Given the description of an element on the screen output the (x, y) to click on. 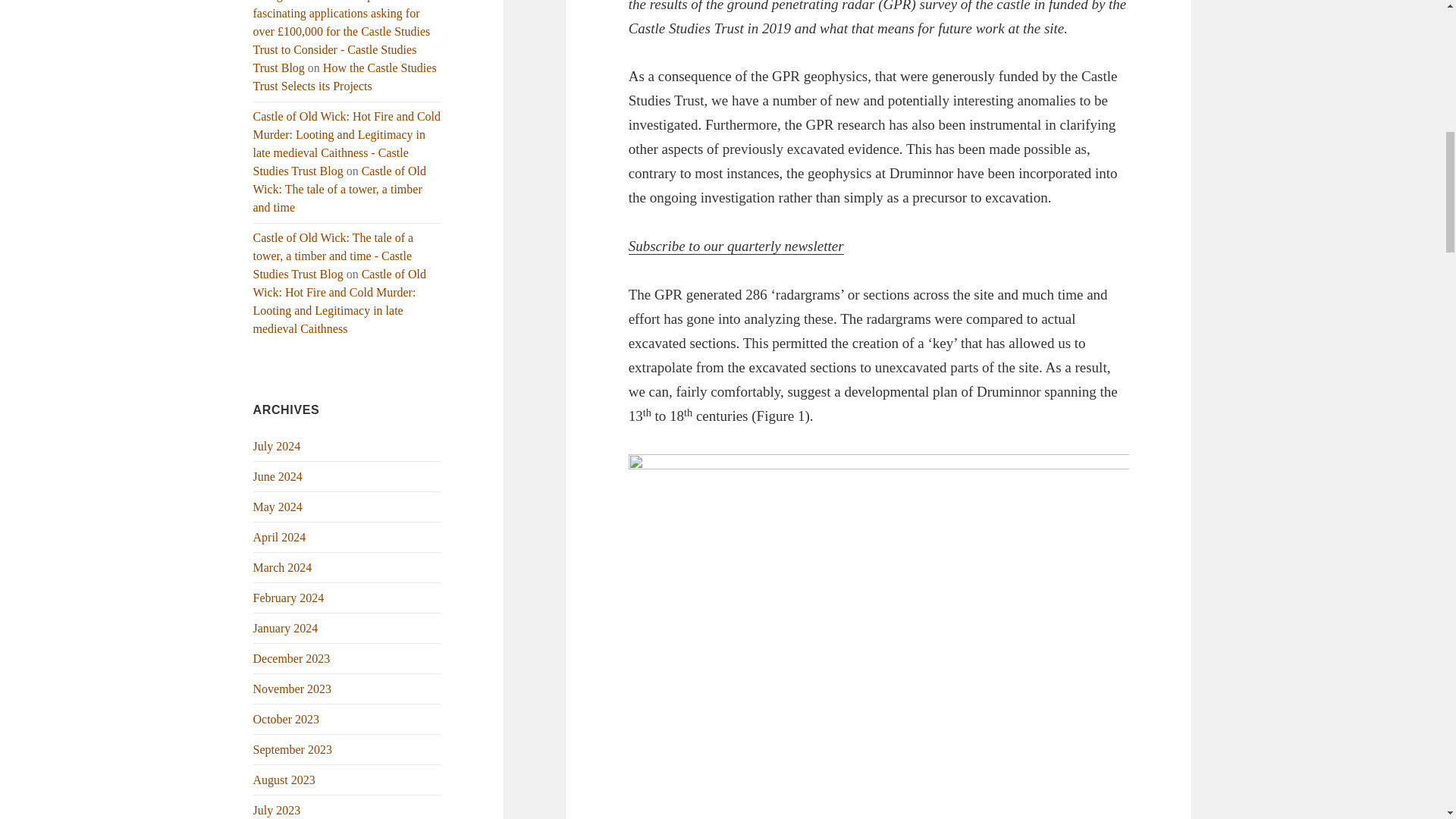
April 2024 (279, 536)
September 2023 (292, 748)
May 2024 (277, 506)
January 2024 (285, 627)
July 2023 (277, 809)
November 2023 (292, 688)
How the Castle Studies Trust Selects its Projects (344, 76)
August 2023 (284, 779)
December 2023 (291, 658)
Castle of Old Wick: The tale of a tower, a timber and time (339, 188)
March 2024 (283, 567)
July 2024 (277, 445)
October 2023 (286, 718)
